Given the description of an element on the screen output the (x, y) to click on. 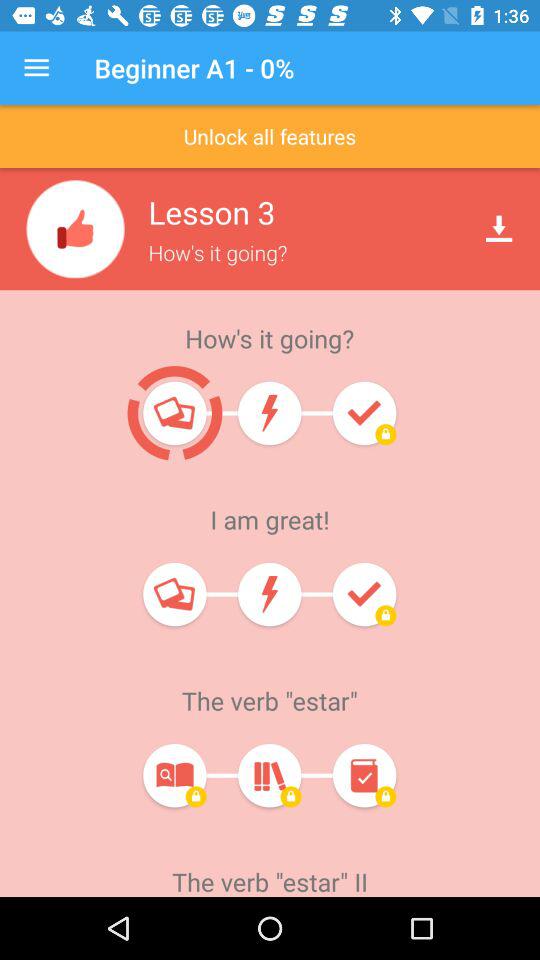
click app to the left of the beginner a1 - 0% (36, 68)
